Given the description of an element on the screen output the (x, y) to click on. 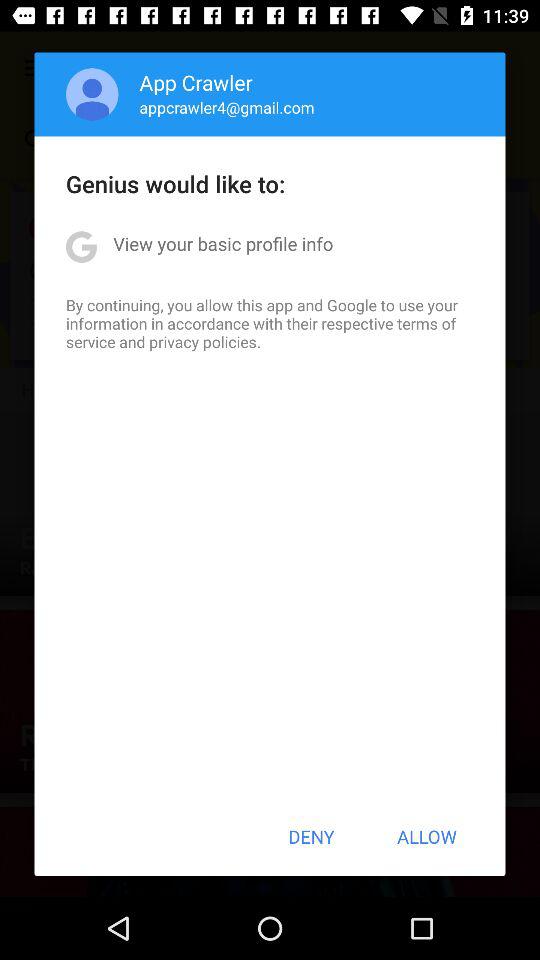
launch the app next to app crawler (92, 94)
